Given the description of an element on the screen output the (x, y) to click on. 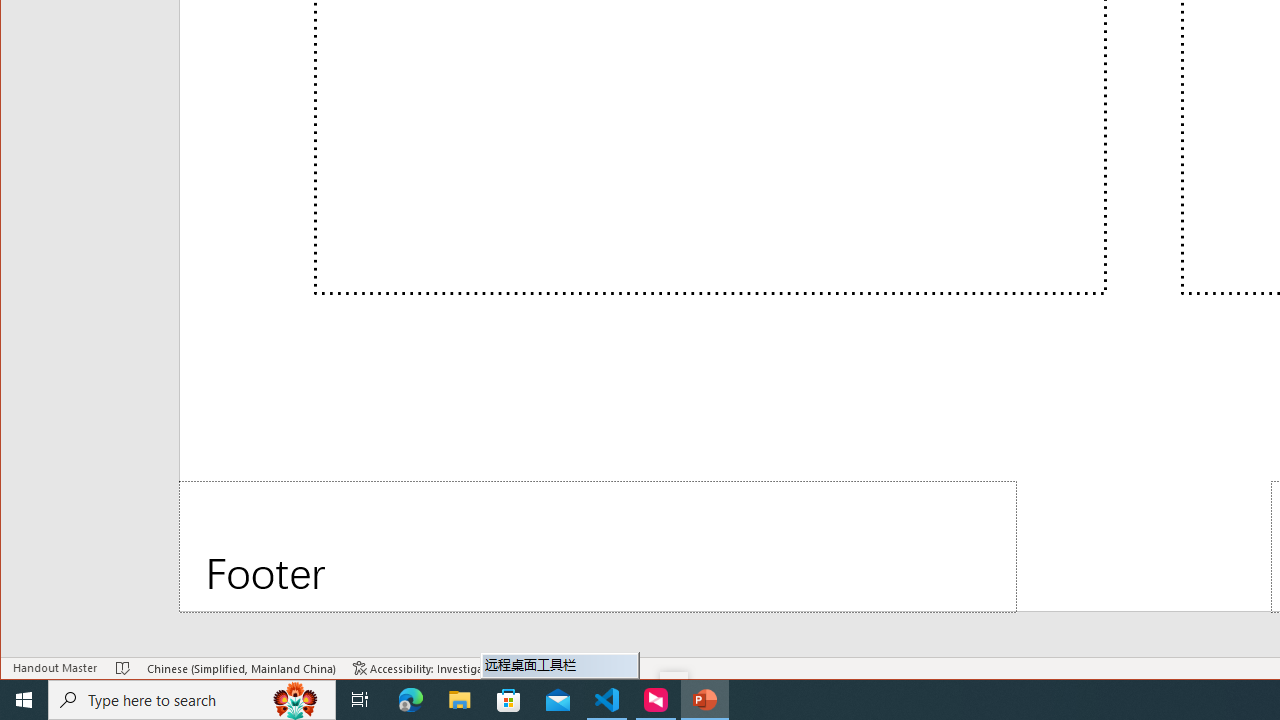
Search highlights icon opens search home window (295, 699)
File Explorer (460, 699)
Accessibility Checker Accessibility: Investigate (423, 668)
Type here to search (191, 699)
PowerPoint - 1 running window (704, 699)
Visual Studio Code - 1 running window (607, 699)
Microsoft Edge (411, 699)
Footer (598, 546)
Microsoft Store (509, 699)
Start (24, 699)
Task View (359, 699)
Spell Check No Errors (123, 668)
